Given the description of an element on the screen output the (x, y) to click on. 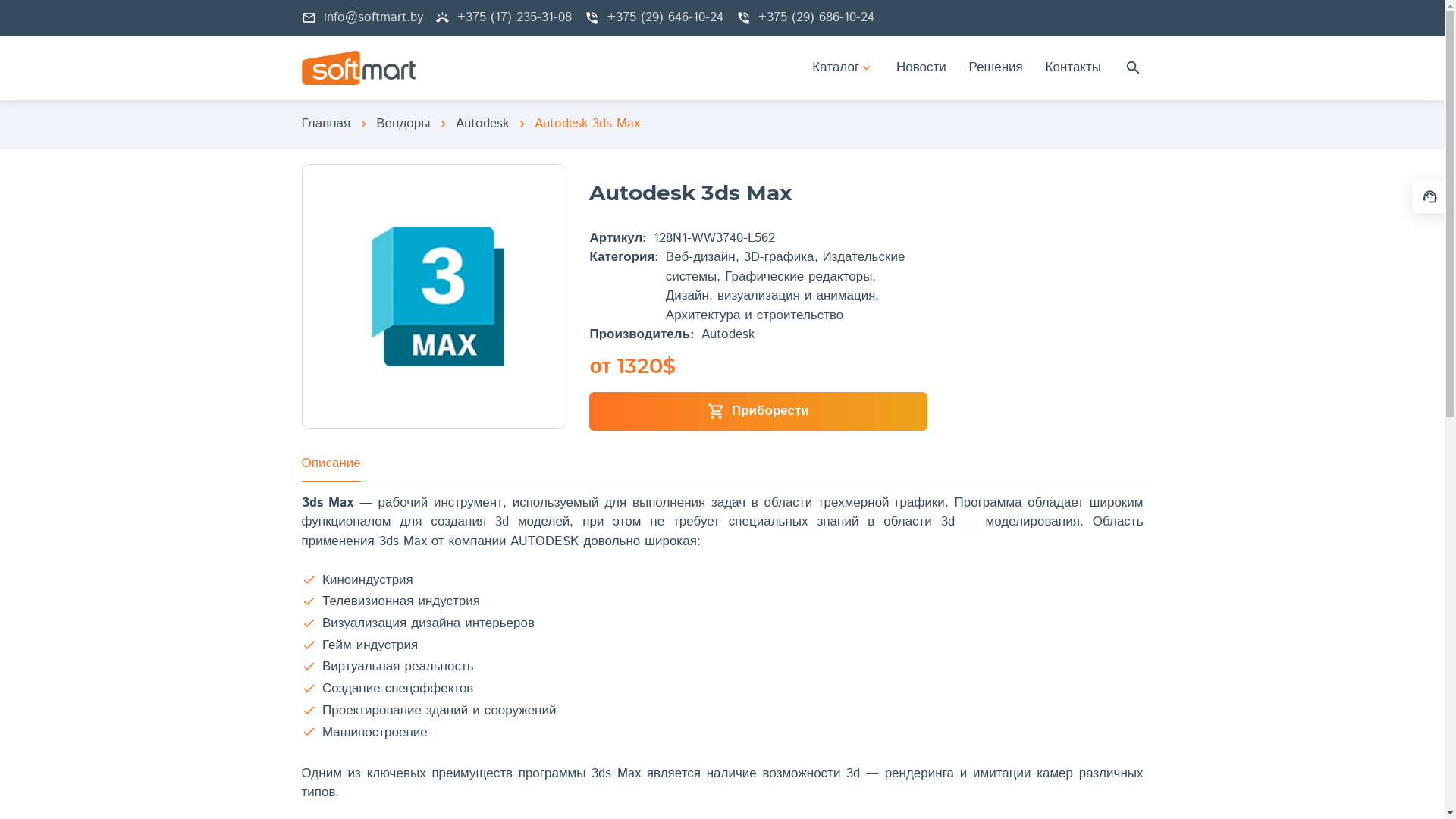
ring_volume
+375 (17) 235-31-08 Element type: text (503, 18)
Autodesk 3ds Max Element type: text (587, 123)
Softmart Element type: hover (358, 67)
phone_in_talk
+375 (29) 646-10-24 Element type: text (653, 18)
phone_in_talk
+375 (29) 686-10-24 Element type: text (805, 18)
Autodesk Element type: text (481, 123)
Autodesk 3ds Max Element type: hover (433, 295)
mail_outline
info@softmart.by Element type: text (362, 18)
